Given the description of an element on the screen output the (x, y) to click on. 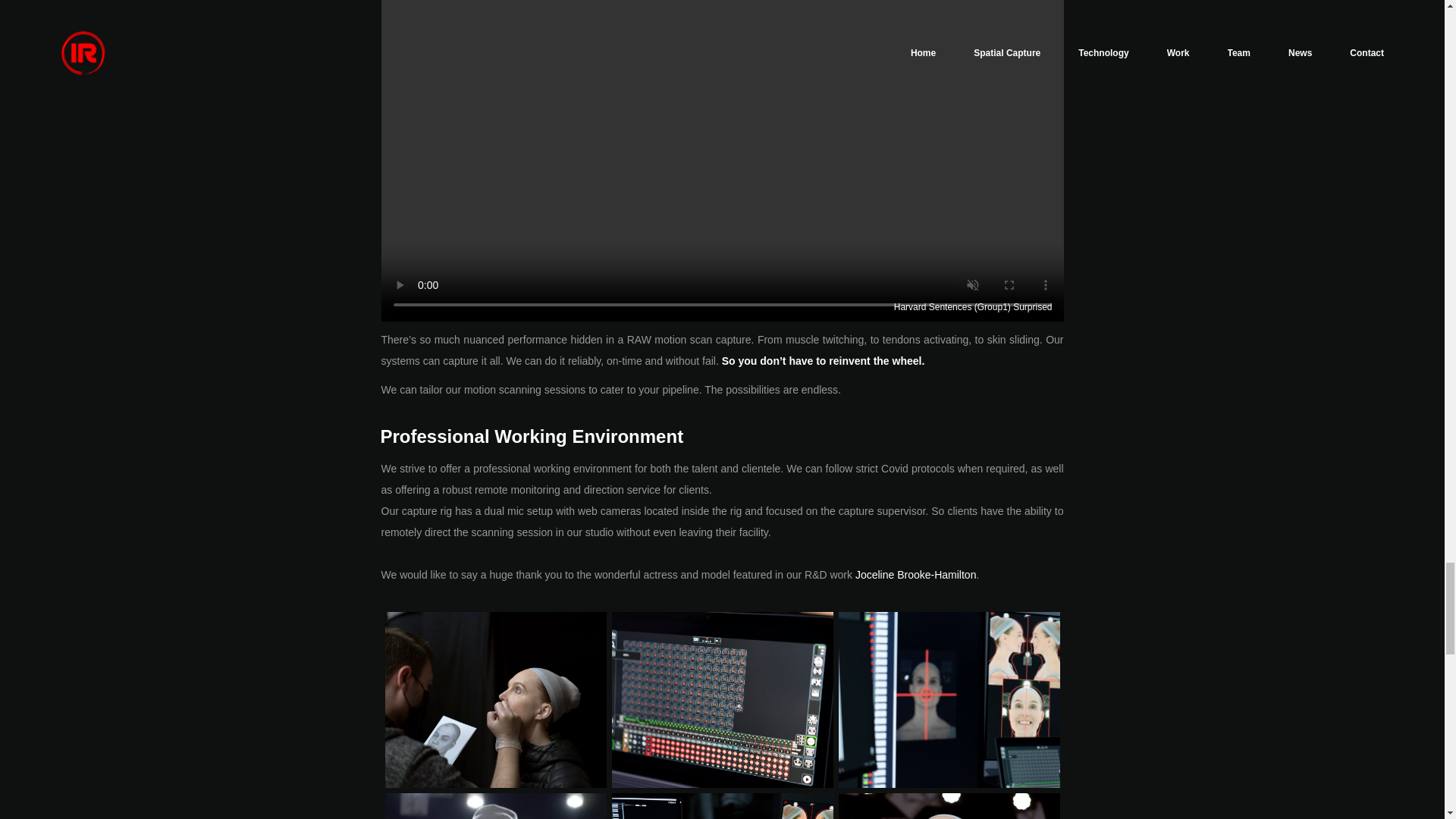
Joceline Brooke-Hamilton (916, 574)
